Given the description of an element on the screen output the (x, y) to click on. 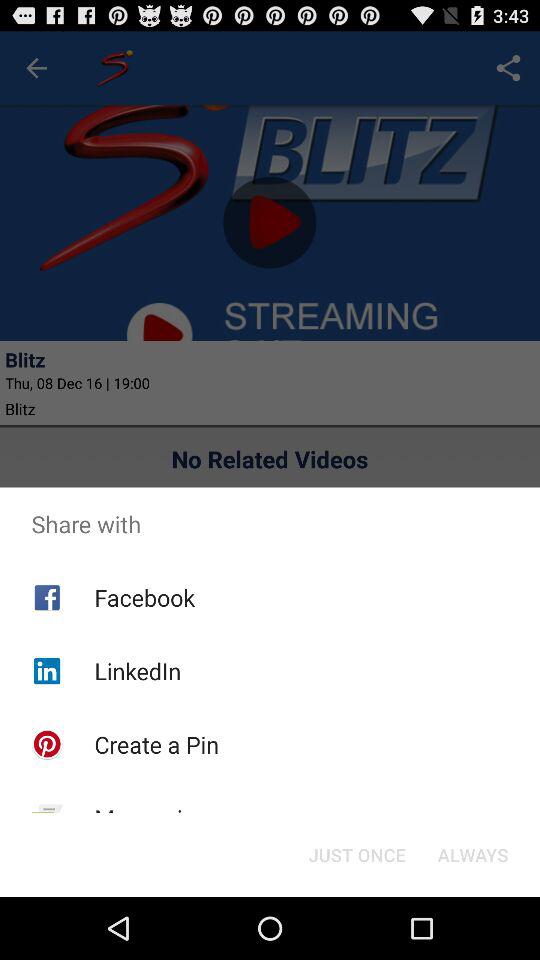
select the messaging app (151, 817)
